Given the description of an element on the screen output the (x, y) to click on. 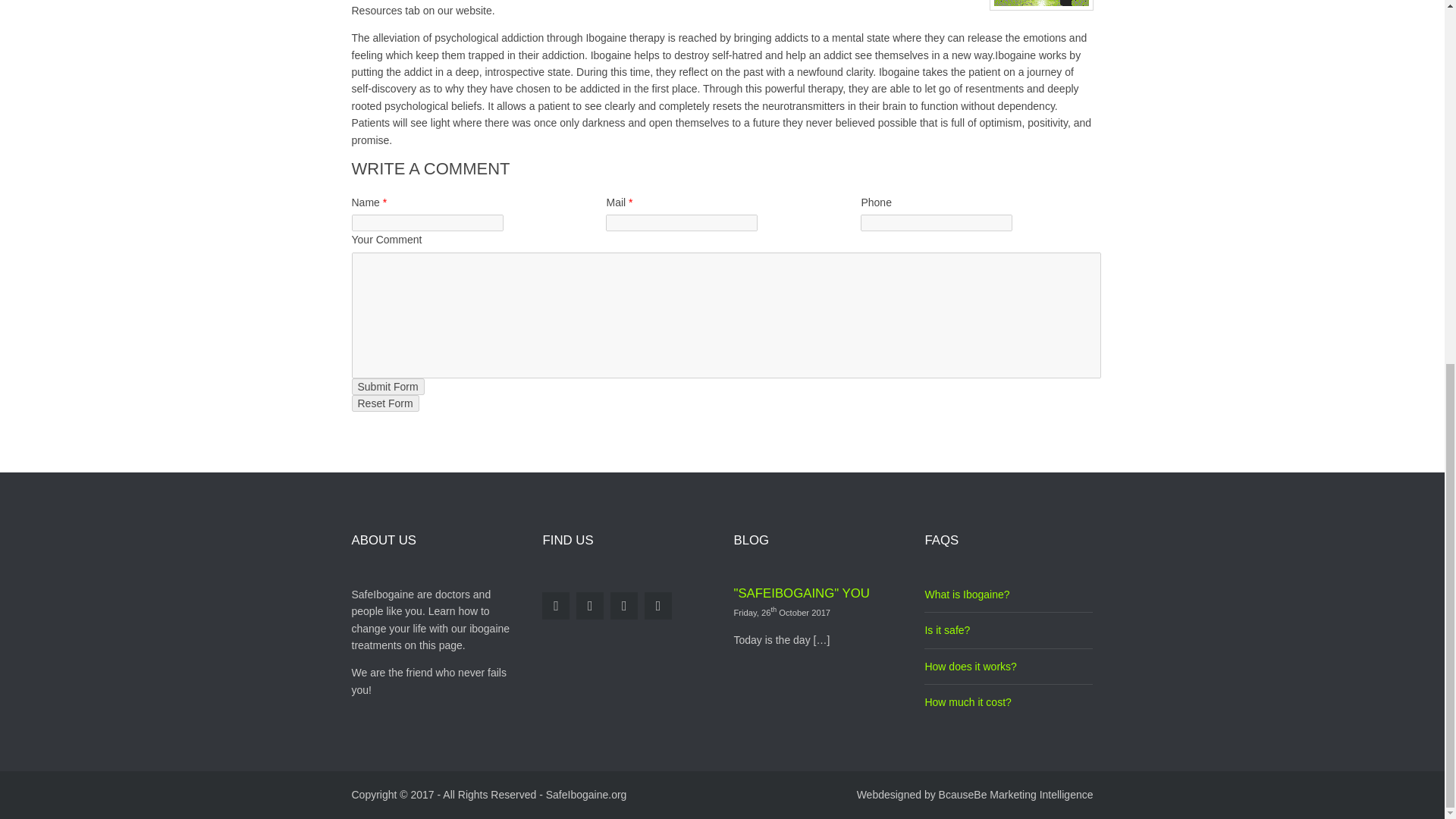
Reset Form (385, 402)
"SAFEIBOGAING" YOU (801, 593)
How does it works? (970, 666)
bcausebe (1016, 794)
Submit Form (388, 386)
Submit Form (388, 386)
What is Ibogaine? (966, 594)
Is it safe? (946, 630)
How much it cost? (967, 702)
SafeIbogaine.org (586, 794)
BcauseBe Marketing Intelligence (1016, 794)
